Given the description of an element on the screen output the (x, y) to click on. 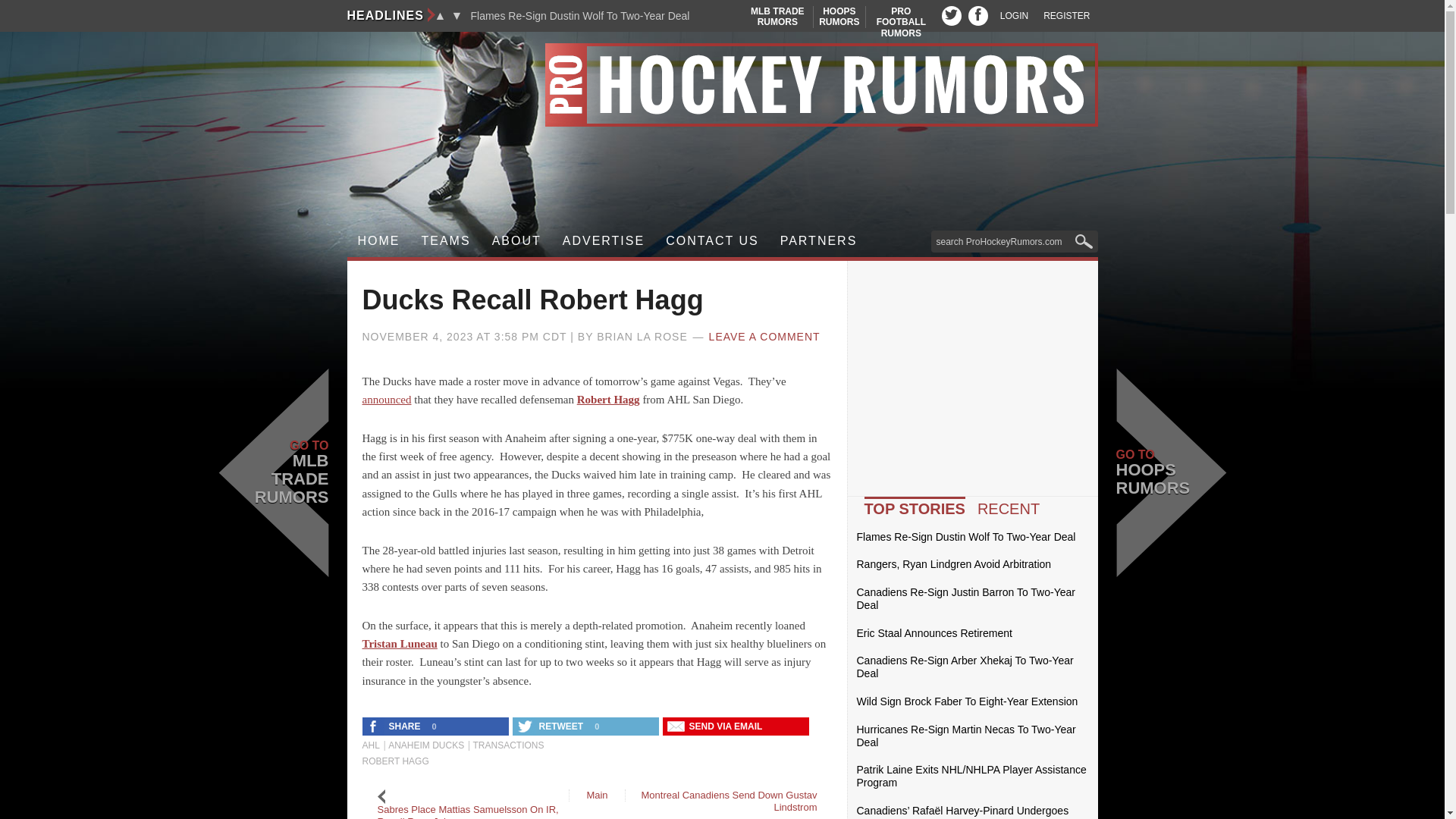
Next (838, 16)
LOGIN (456, 15)
Pro Hockey Rumors (777, 16)
FB profile (1013, 15)
Previous (722, 84)
TEAMS (978, 15)
REGISTER (439, 15)
Send Ducks Recall Robert Hagg with an email (445, 241)
Search (1066, 15)
Share 'Ducks Recall Robert Hagg' on Facebook (716, 726)
HOME (901, 21)
